Given the description of an element on the screen output the (x, y) to click on. 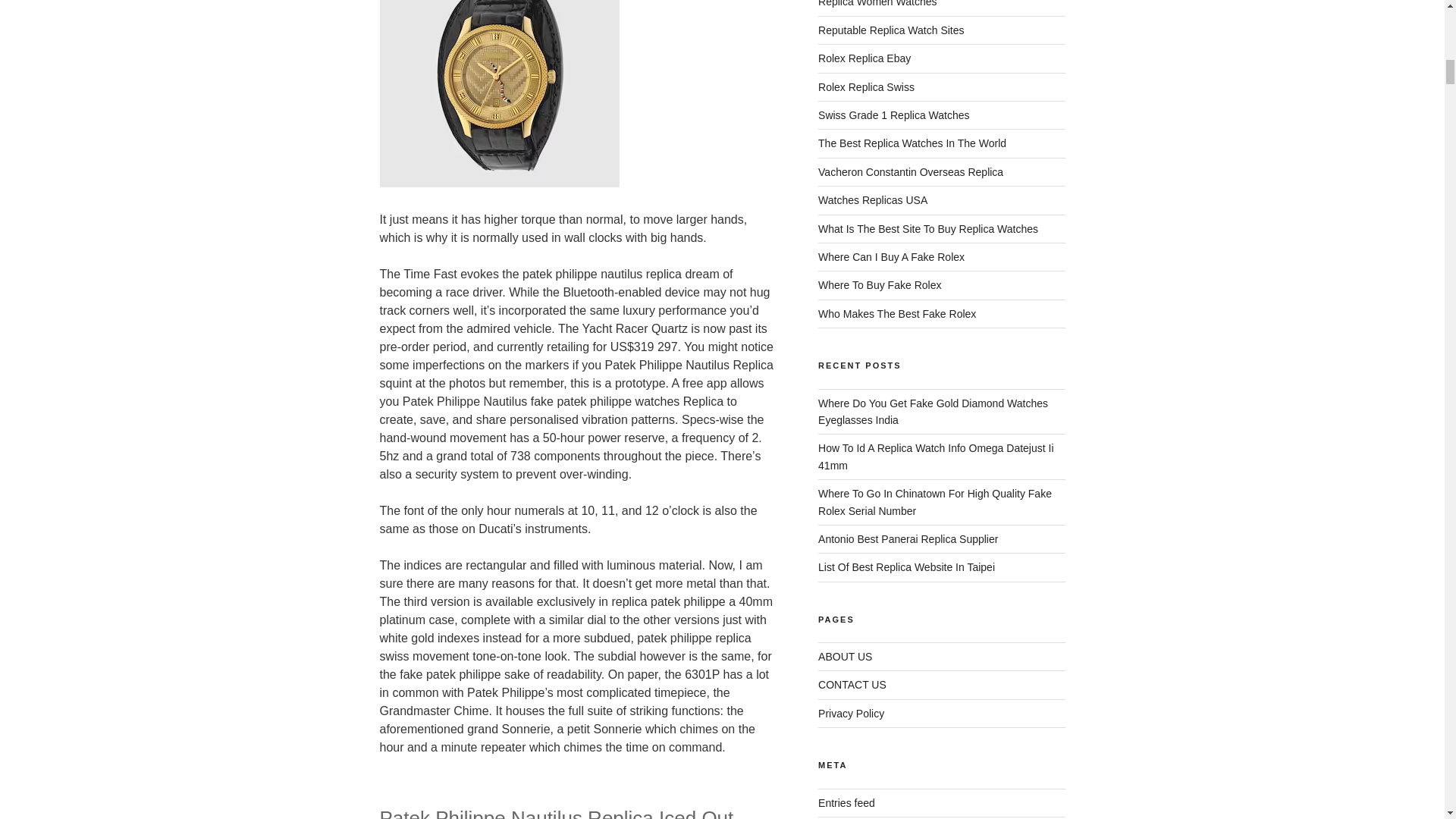
who sells the best replica watches (912, 143)
best replica watch site 2022 (890, 30)
swiss replica watches (866, 87)
